Given the description of an element on the screen output the (x, y) to click on. 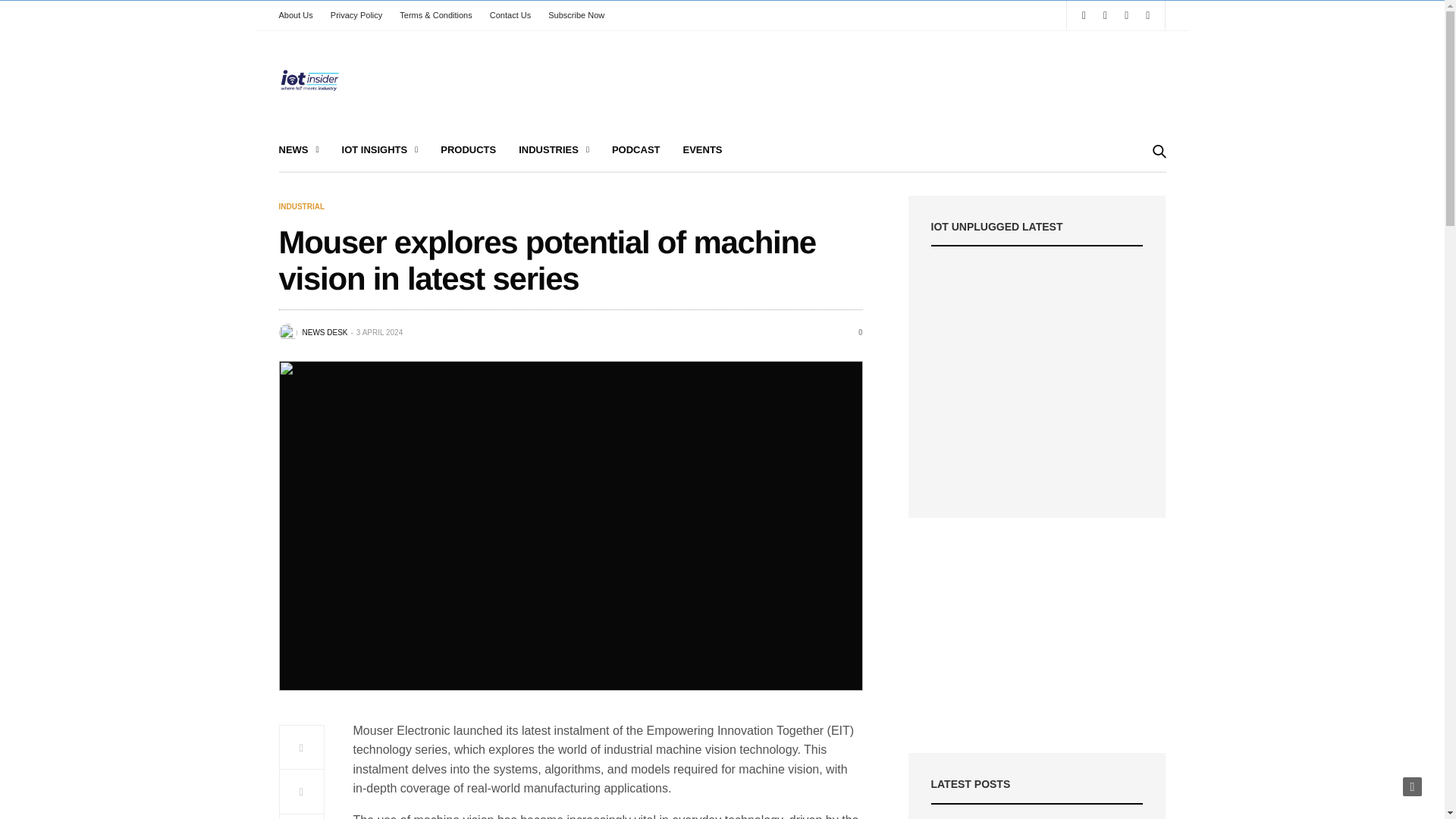
PODCAST (636, 150)
Subscribe Now (575, 15)
PRODUCTS (468, 150)
EVENTS (702, 150)
Posts by News Desk (324, 332)
INDUSTRIAL (301, 206)
Mouser explores potential of machine vision in latest series (853, 332)
Privacy Policy (356, 15)
Industrial (301, 206)
INDUSTRIES (553, 150)
